Given the description of an element on the screen output the (x, y) to click on. 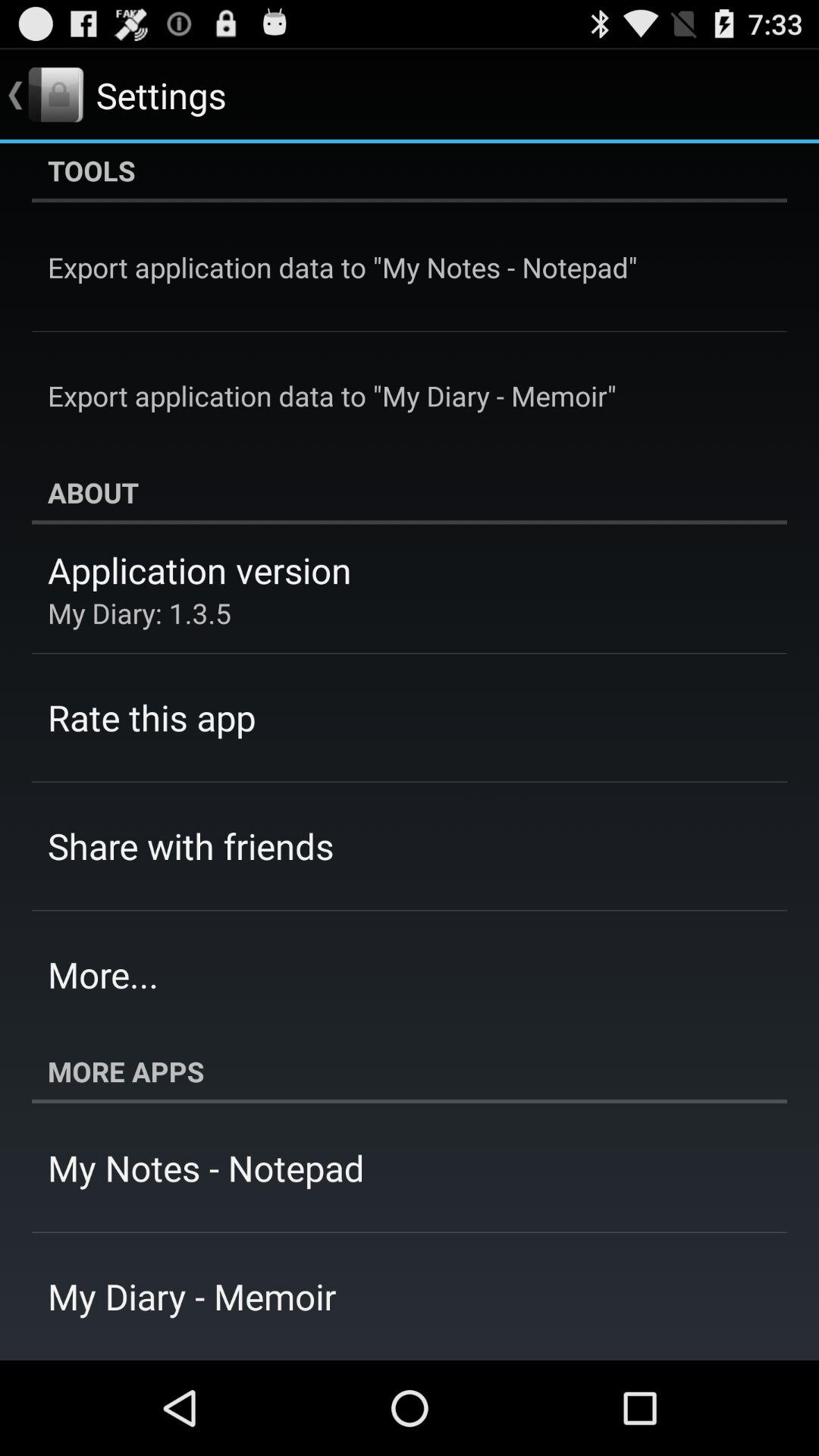
select the icon above my notes - notepad app (409, 1071)
